Given the description of an element on the screen output the (x, y) to click on. 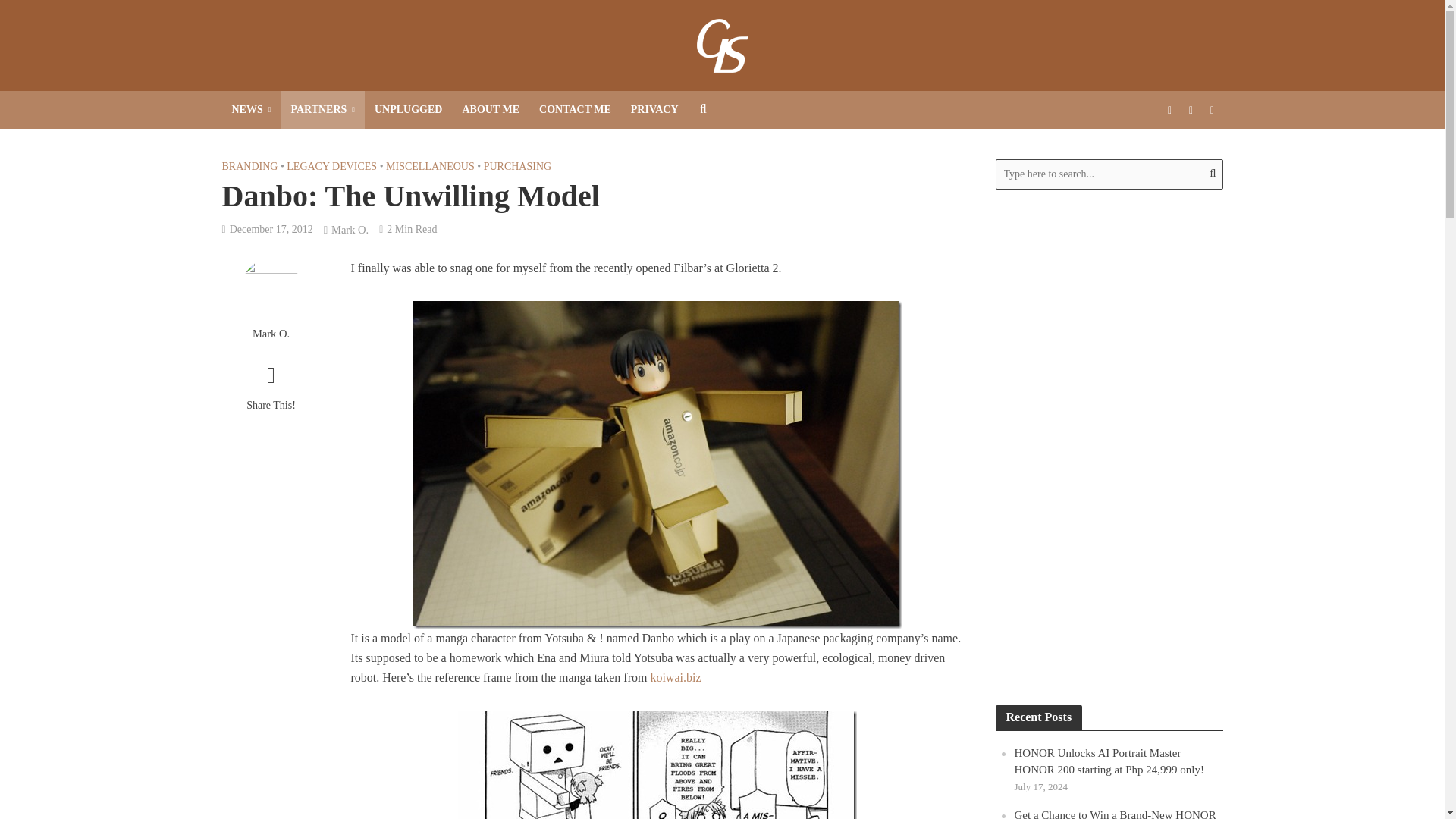
PURCHASING (517, 167)
PRIVACY (654, 109)
PARTNERS (323, 109)
CONTACT ME (575, 109)
BRANDING (249, 167)
UNPLUGGED (408, 109)
Advertisement (1108, 447)
Mark O. (349, 231)
Mark O. (270, 333)
ABOUT ME (490, 109)
LEGACY DEVICES (331, 167)
NEWS (251, 109)
MISCELLANEOUS (429, 167)
